Given the description of an element on the screen output the (x, y) to click on. 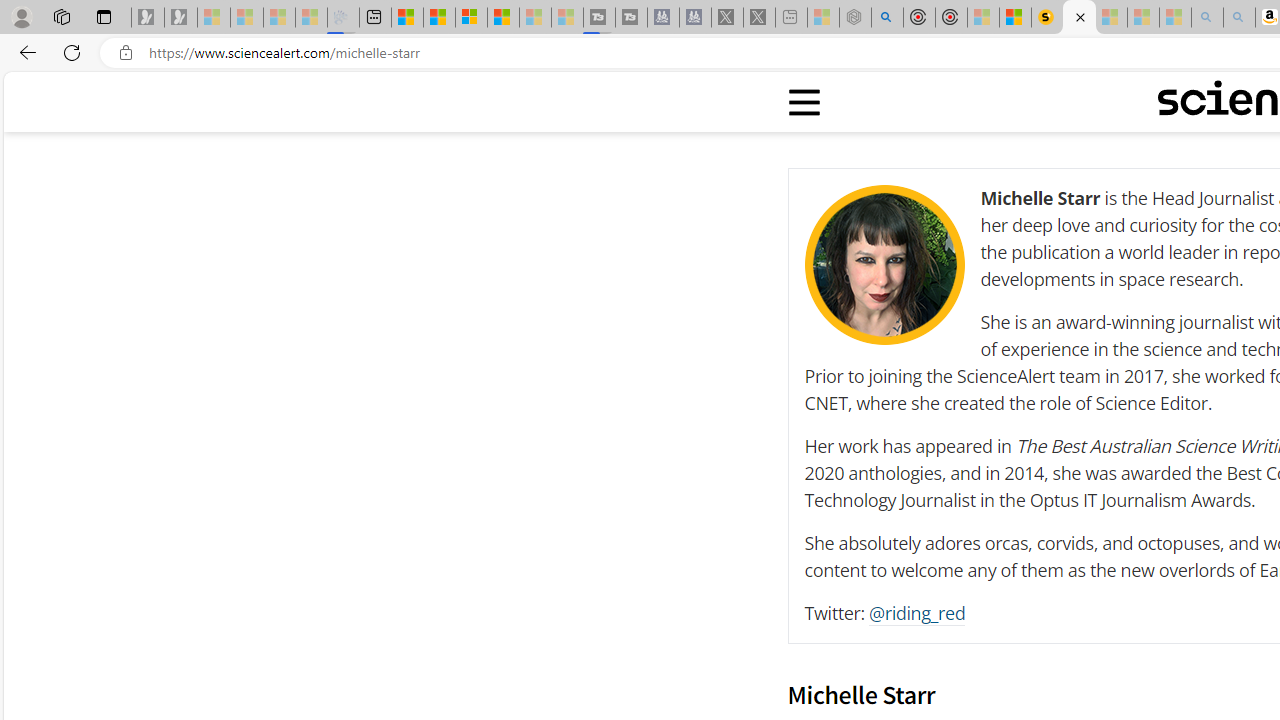
@riding_red (917, 613)
Nordace - Summer Adventures 2024 - Sleeping (855, 17)
Main menu (805, 102)
Class: sciencealert-menu-desktop-svg  (803, 102)
